Given the description of an element on the screen output the (x, y) to click on. 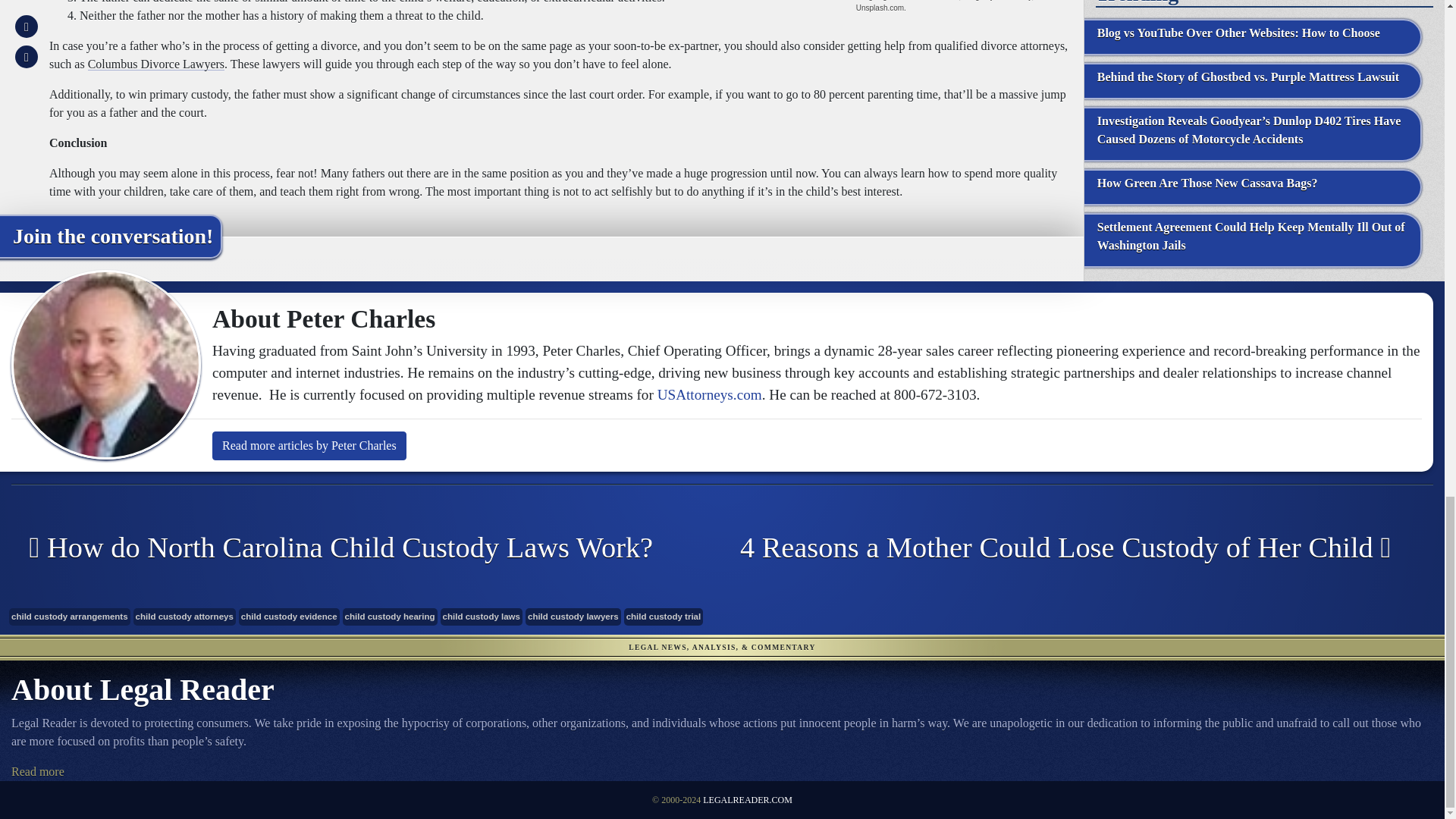
 How do North Carolina Child Custody Laws Work? (355, 548)
child custody attorneys (184, 616)
child custody laws (481, 616)
Read more articles by Peter Charles (309, 445)
USAttorneys.com (709, 394)
child custody hearing (390, 616)
child custody trial (663, 616)
Read more articles by Peter Charles (309, 445)
child custody evidence (288, 616)
Columbus Divorce Lawyers (155, 63)
